Given the description of an element on the screen output the (x, y) to click on. 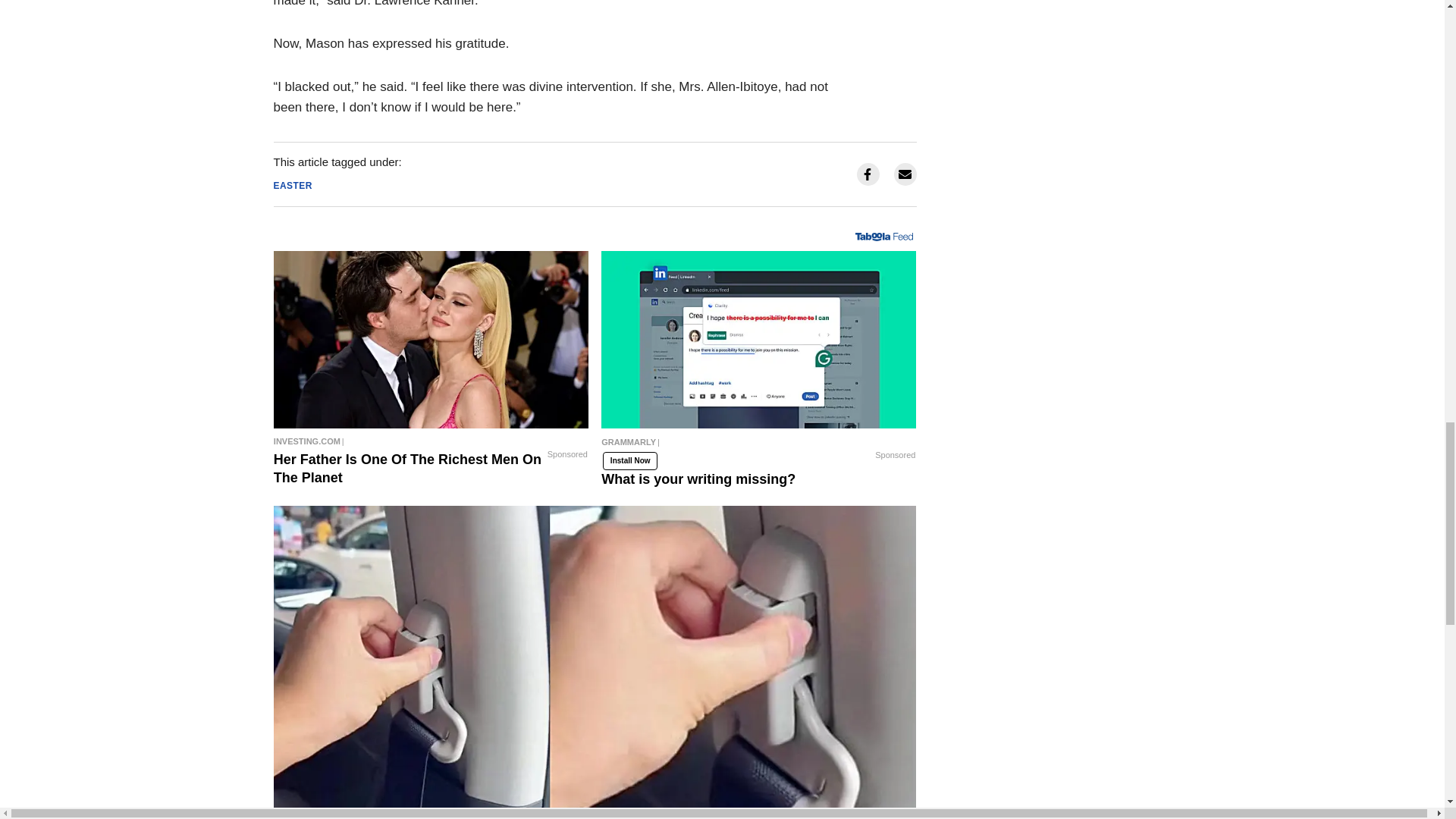
What is your writing missing? (758, 445)
What is your writing missing? (758, 339)
EASTER (292, 185)
Her Father Is One Of The Richest Men On The Planet (430, 339)
Her Father Is One Of The Richest Men On The Planet (430, 441)
